Given the description of an element on the screen output the (x, y) to click on. 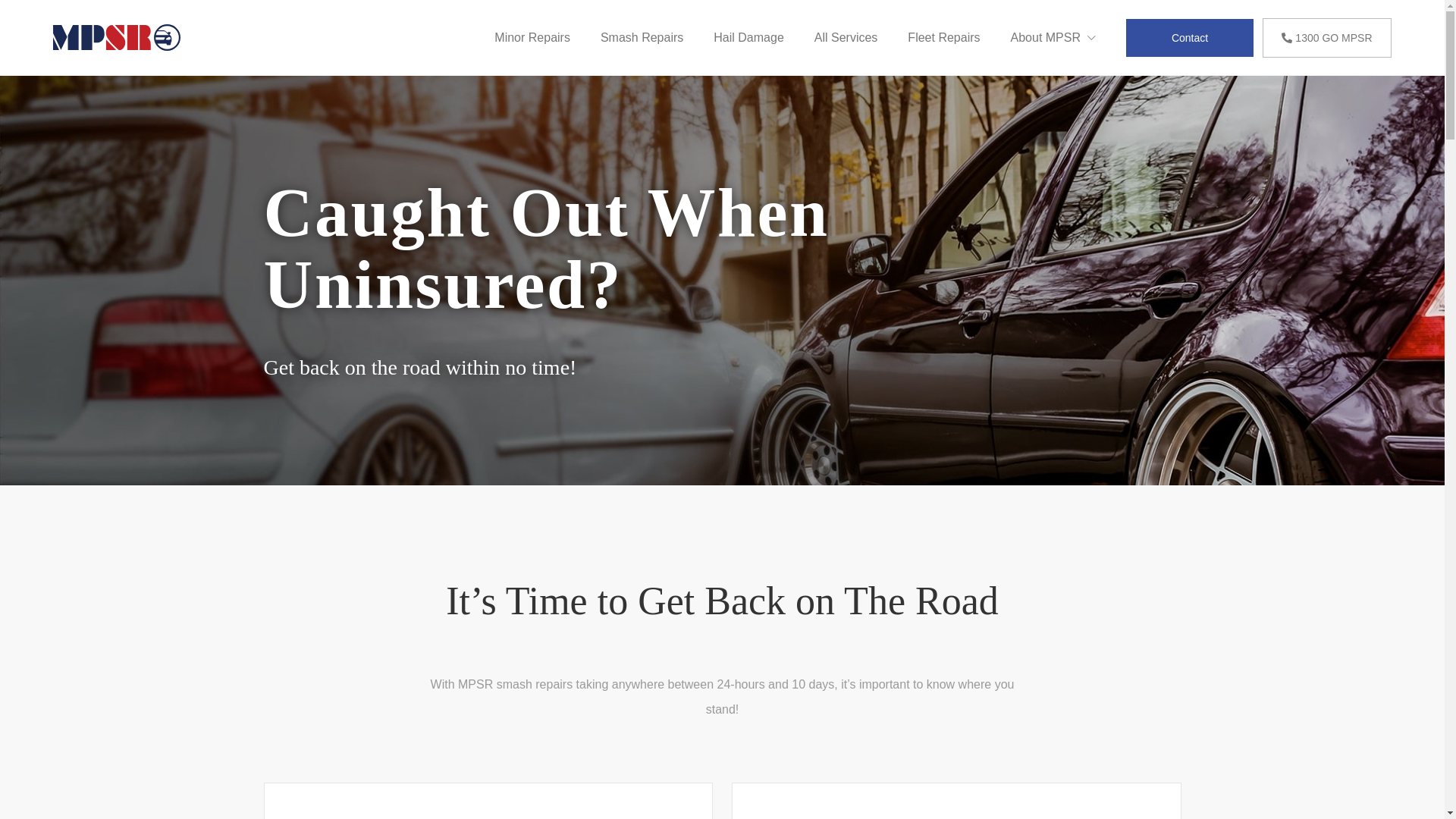
Smash Repairs Element type: text (641, 37)
1300 GO MPSR Element type: text (1326, 37)
Hail Damage Element type: text (748, 37)
All Services Element type: text (846, 37)
Fleet Repairs Element type: text (943, 37)
Contact Element type: text (1189, 37)
About MPSR Element type: text (1052, 37)
Minor Repairs Element type: text (532, 37)
